Given the description of an element on the screen output the (x, y) to click on. 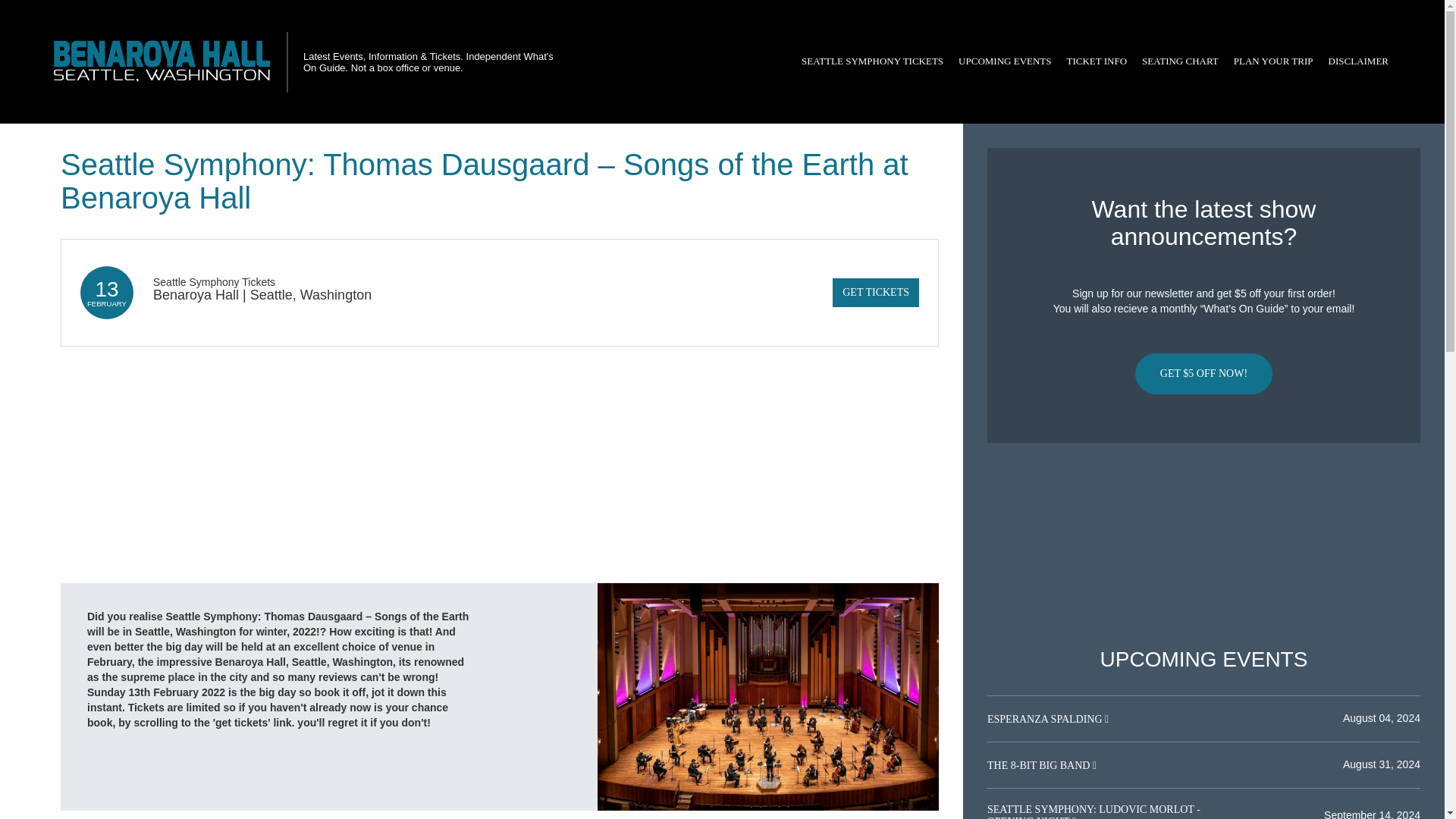
PLAN YOUR TRIP (1272, 61)
GET TICKETS (875, 292)
Seattle Symphony Tickets (213, 282)
DISCLAIMER (1358, 61)
SEATTLE SYMPHONY TICKETS (871, 61)
SEATING CHART (1179, 61)
UPCOMING EVENTS (1004, 61)
TICKET INFO (1097, 61)
ESPERANZA SPALDING (1046, 718)
